Given the description of an element on the screen output the (x, y) to click on. 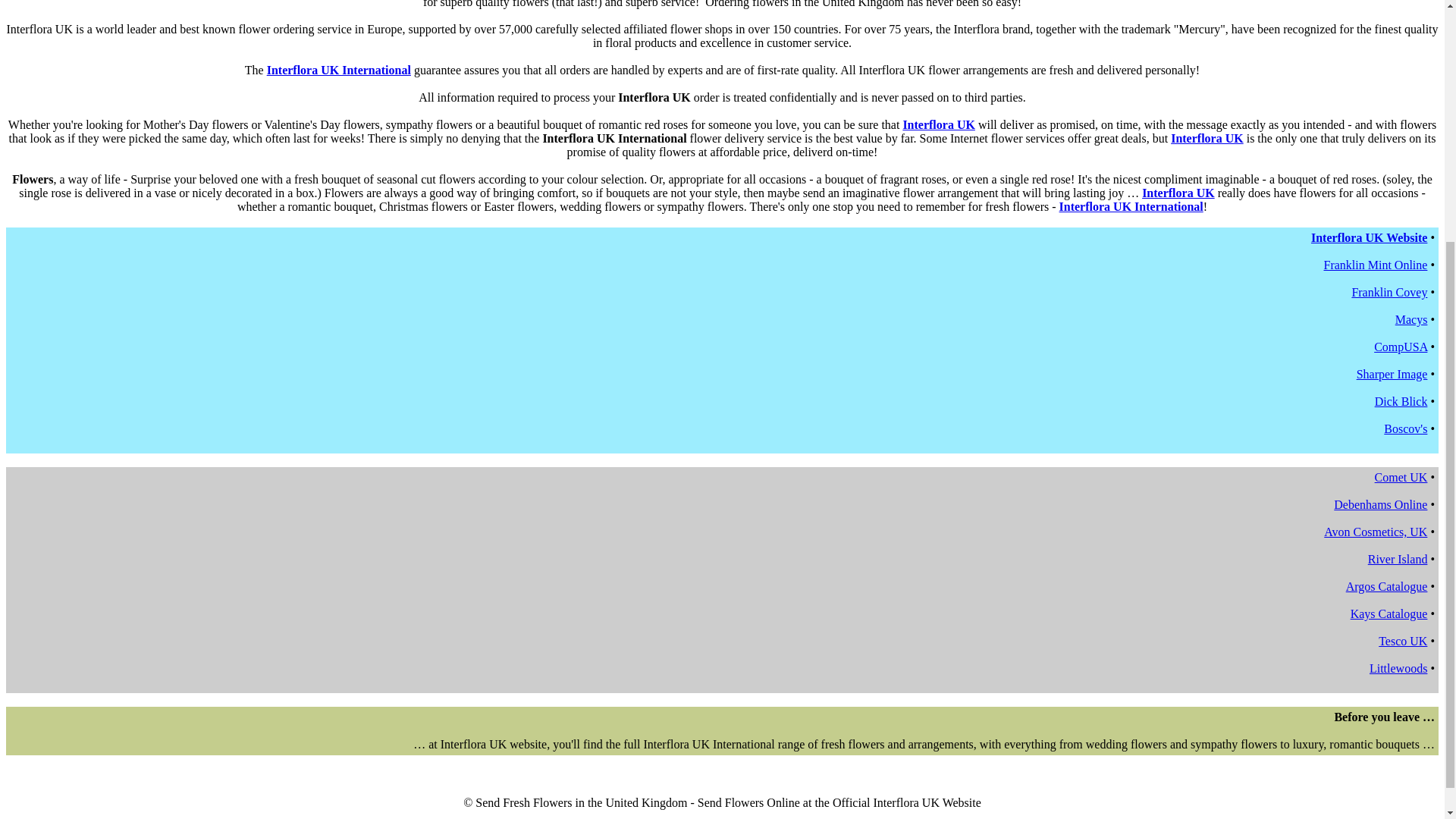
Tesco UK (1402, 640)
CompUSA (1400, 346)
Macys (1411, 318)
Interflora UK International (338, 69)
Kays Catalogue (1389, 613)
Avon Cosmetics, UK (1374, 531)
Sharper Image (1392, 373)
Interflora UK Website (1368, 237)
Boscov's (1405, 428)
Interflora UK (1177, 192)
Interflora UK (938, 124)
Interflora UK International (1131, 205)
Comet UK (1401, 477)
Dick Blick (1401, 400)
Debenhams Online (1379, 504)
